Given the description of an element on the screen output the (x, y) to click on. 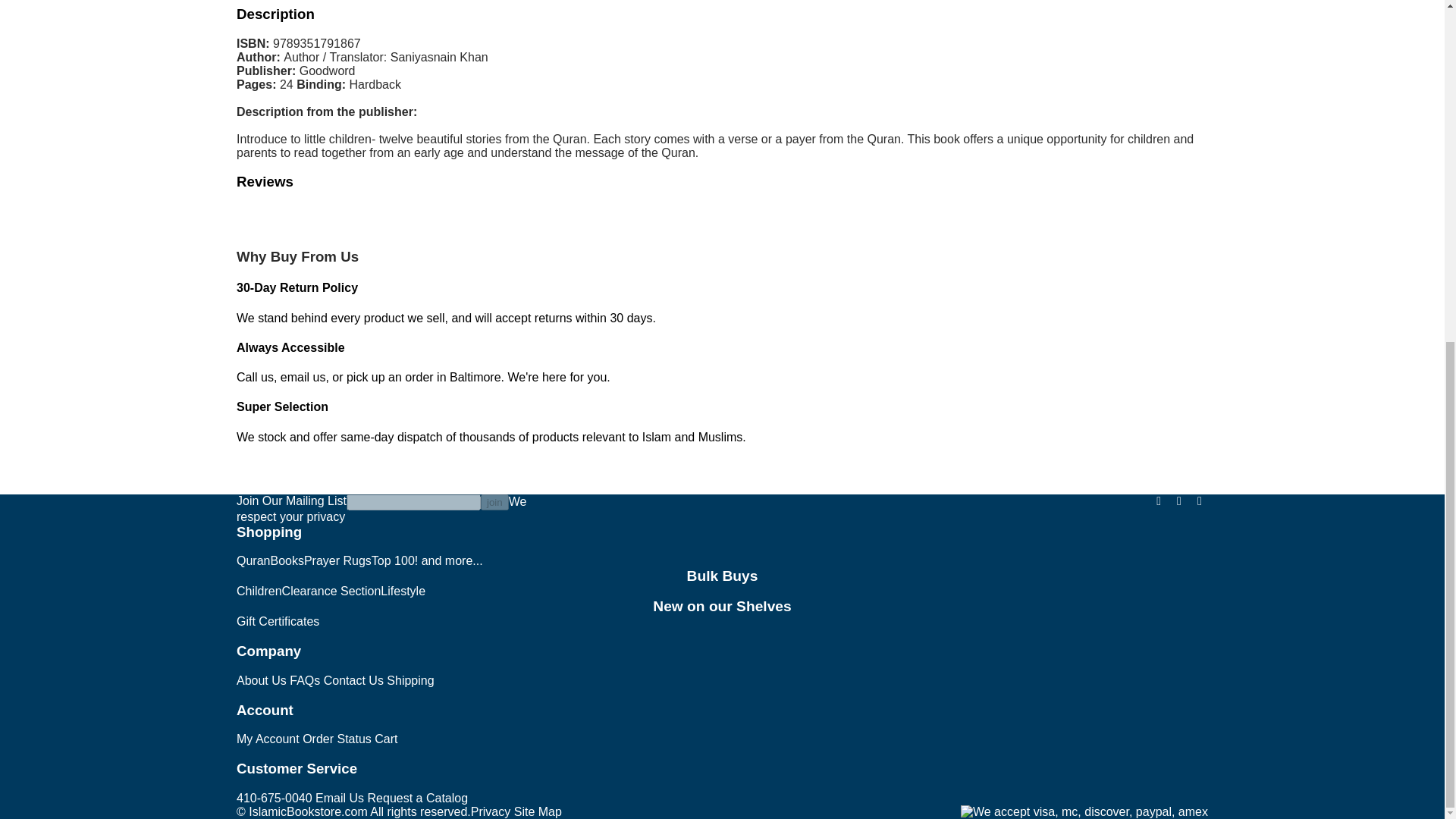
We respect your privacy (380, 509)
join (494, 502)
Description (274, 13)
join (494, 502)
Reviews (264, 181)
